Given the description of an element on the screen output the (x, y) to click on. 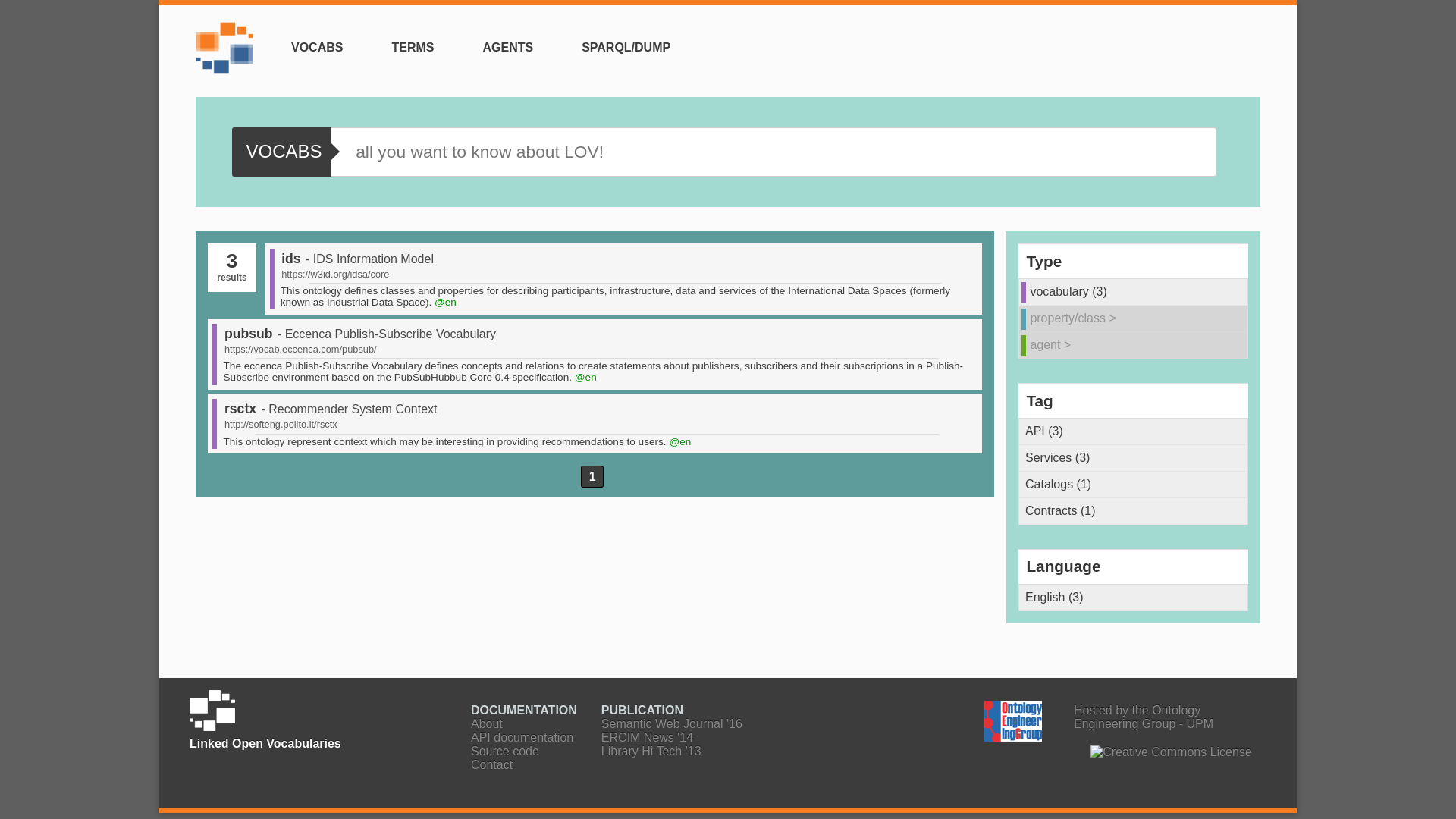
Contact (491, 764)
ERCIM News '14 (647, 737)
API documentation (521, 737)
VOCABS (280, 151)
Source in GitHub (504, 750)
Linked Open Vocabularies (227, 56)
Linked Open Vocabularies (647, 737)
AGENTS (507, 47)
Hosted by the Ontology Engineering Group - UPM (1110, 716)
- Eccenca Publish-Subscribe Vocabulary (384, 333)
About (486, 723)
TERMS (411, 47)
Linked Open Vocabularies (671, 723)
Semantic Web Journal '16 (671, 723)
VOCABS (317, 47)
